Given the description of an element on the screen output the (x, y) to click on. 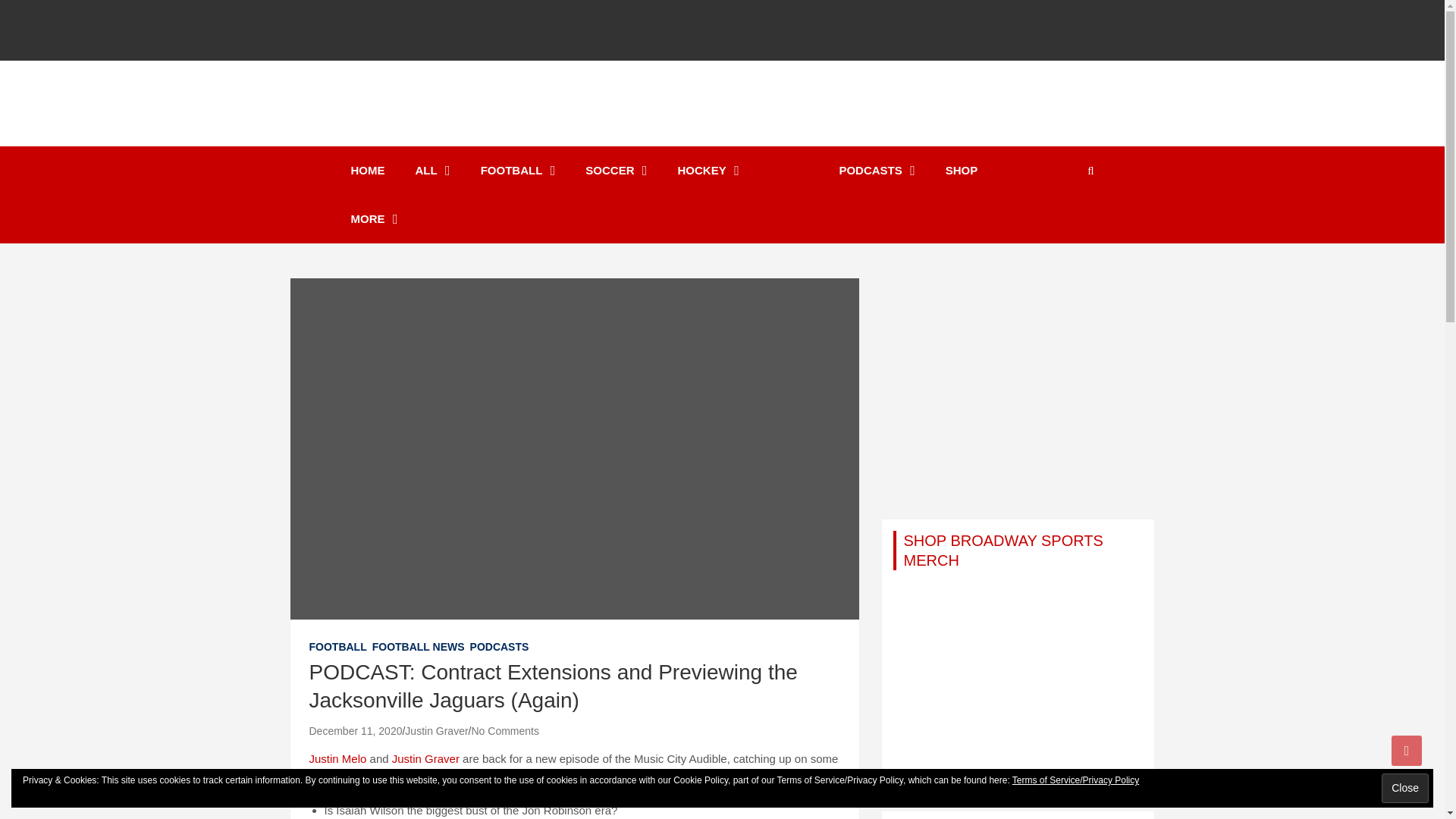
Go to Top (1406, 750)
FOOTBALL (517, 170)
Close (1404, 788)
HOME (366, 170)
ALL (432, 170)
